Given the description of an element on the screen output the (x, y) to click on. 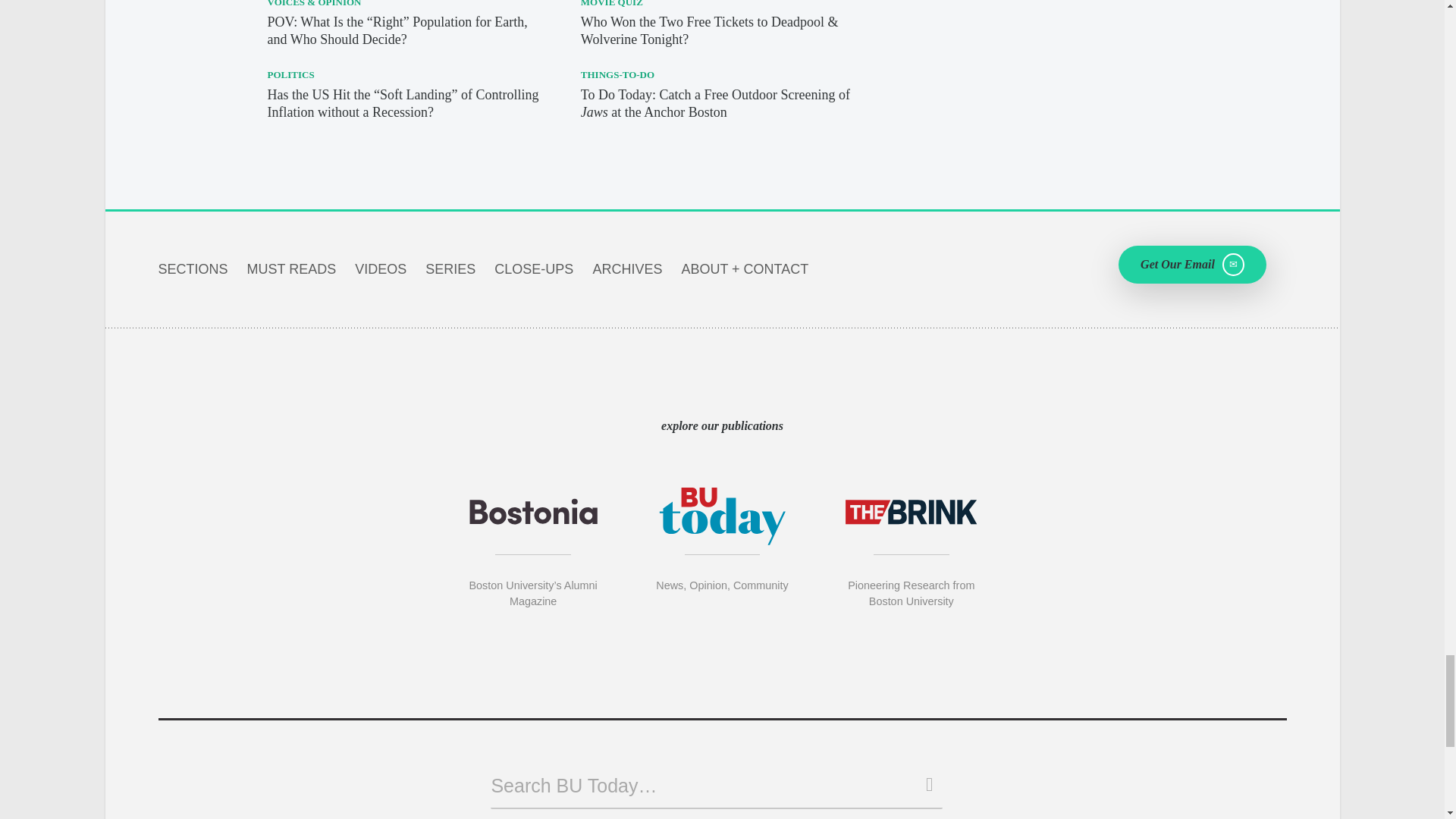
Navigate to: Videos (380, 269)
Navigate to: Close-ups (533, 269)
Navigate to: Archives (627, 269)
Navigate to: Sections (191, 269)
Navigate to: Must Reads (291, 269)
